Given the description of an element on the screen output the (x, y) to click on. 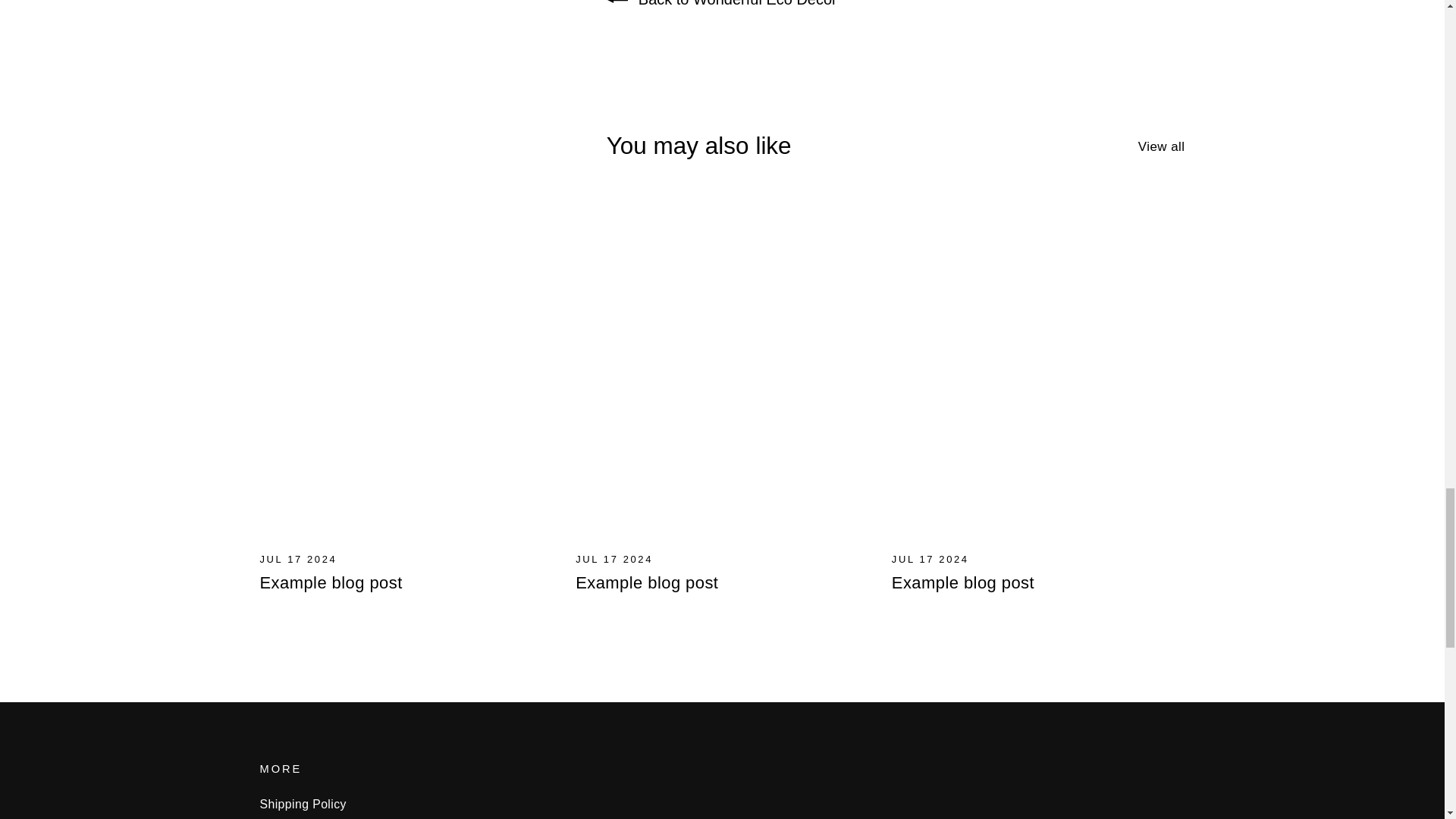
icon-left-arrow (617, 3)
icon-left-arrow Back to Wonderful Eco Decor (722, 3)
Example blog post (646, 582)
View all (1161, 144)
Example blog post (330, 582)
Example blog post (962, 582)
